Given the description of an element on the screen output the (x, y) to click on. 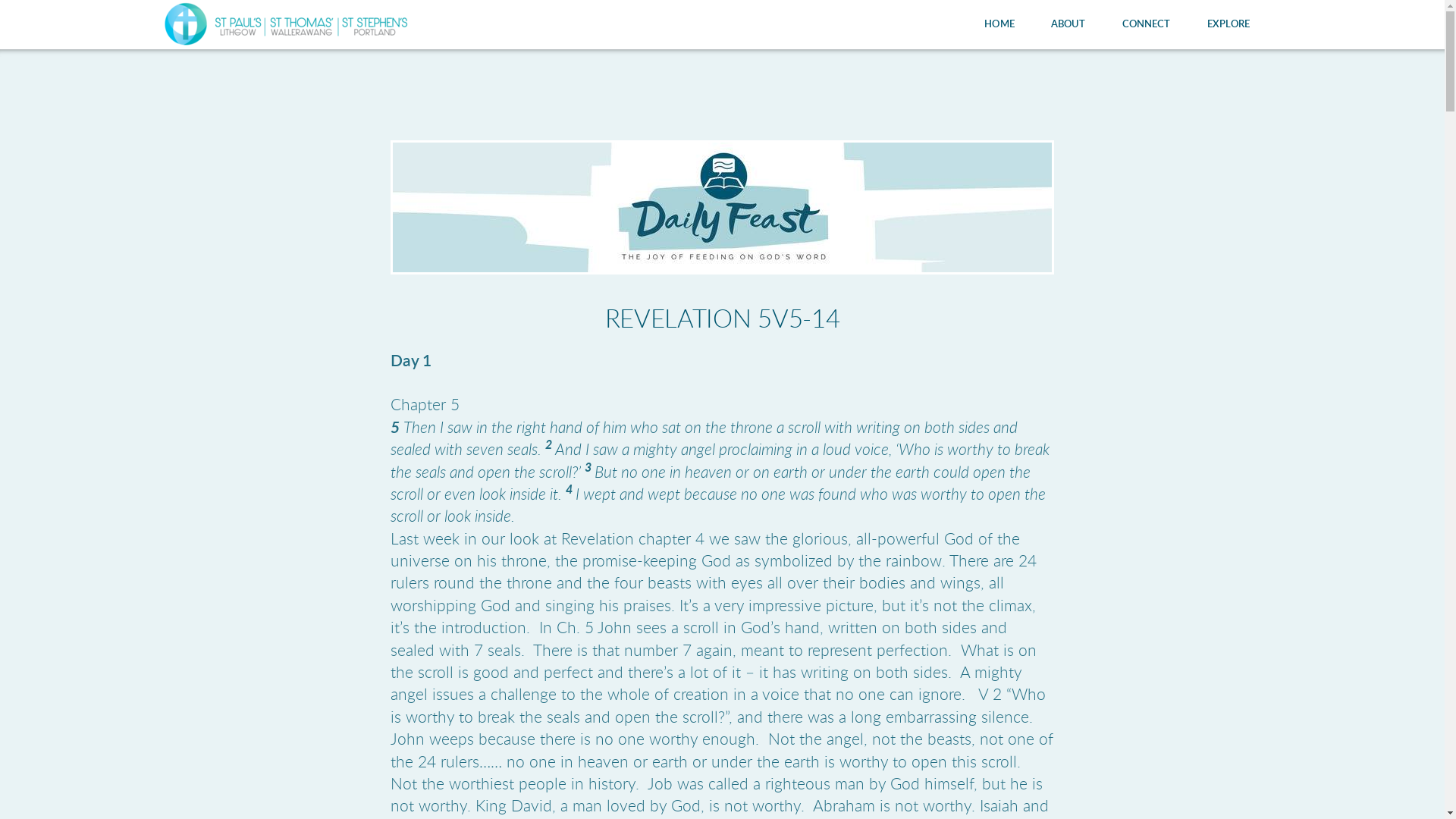
CONNECT Element type: text (1146, 24)
ABOUT Element type: text (1068, 24)
EXPLORE Element type: text (1228, 24)
HOME Element type: text (999, 24)
